Given the description of an element on the screen output the (x, y) to click on. 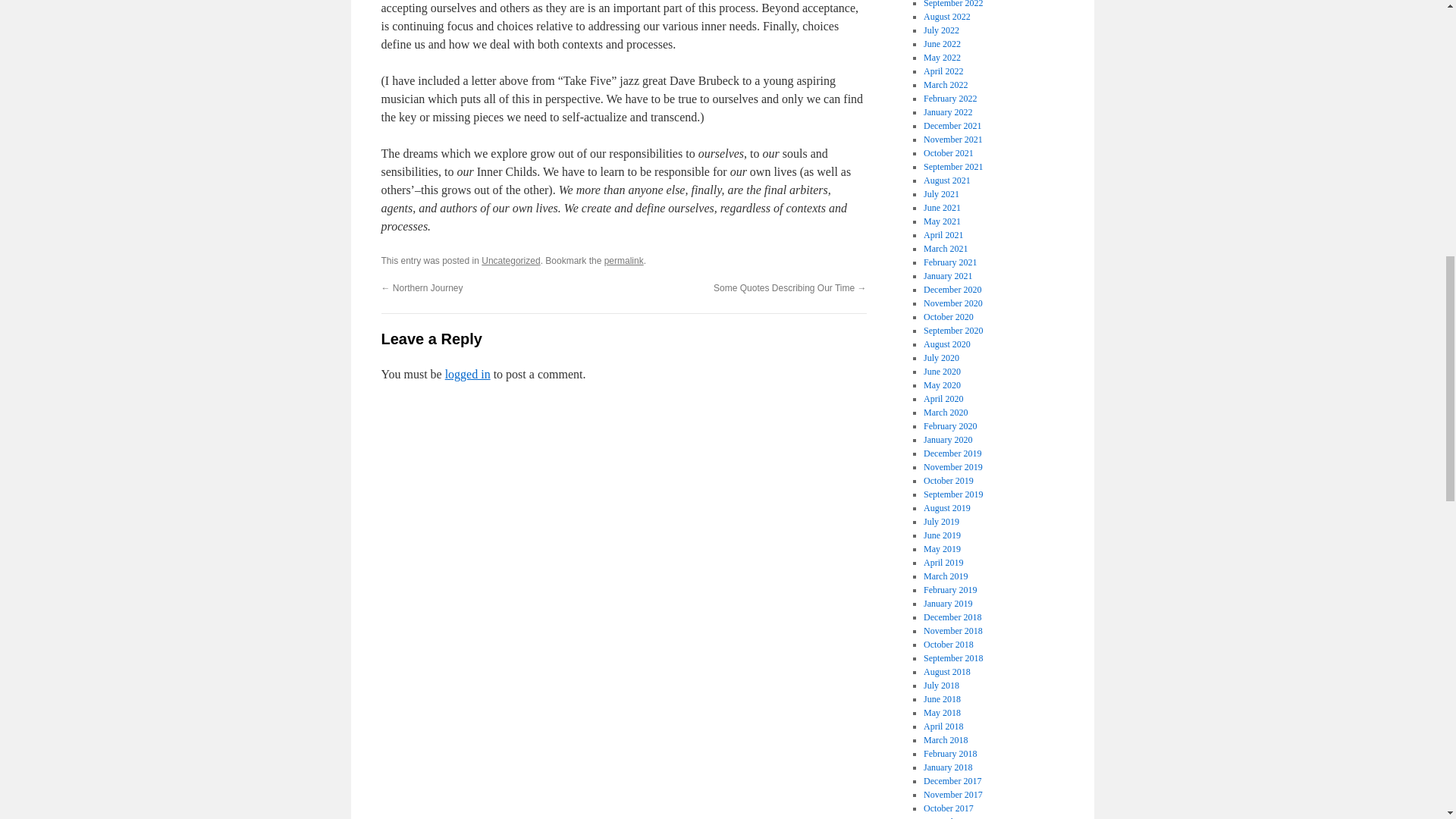
logged in (467, 373)
Uncategorized (510, 260)
permalink (623, 260)
